Given the description of an element on the screen output the (x, y) to click on. 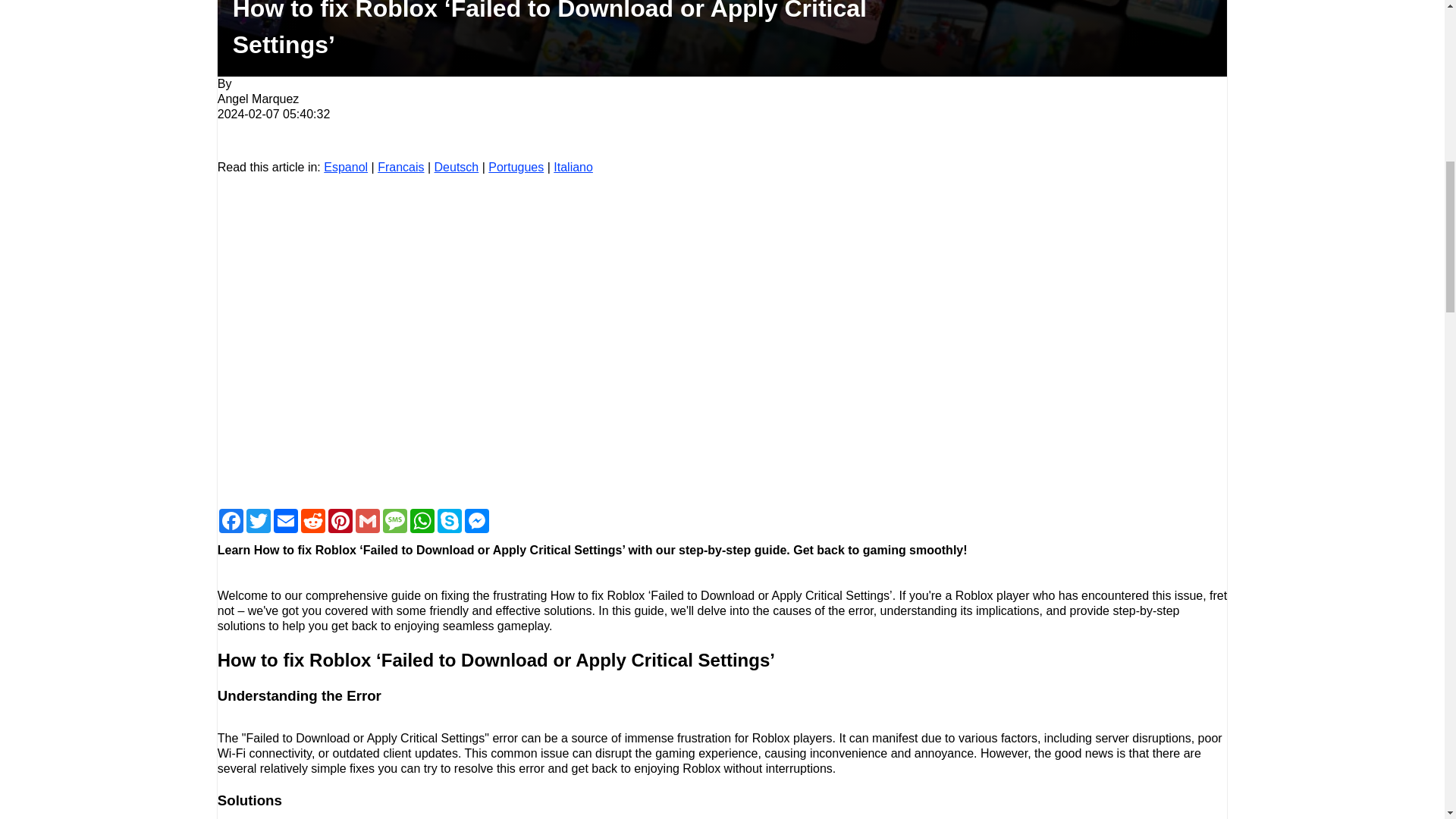
Francais (400, 166)
Deutsch (456, 166)
Skype (449, 520)
Pinterest (339, 520)
Reddit (312, 520)
SMS (395, 520)
WhatsApp (422, 520)
Portugues (515, 166)
Facebook (230, 520)
Espanol (345, 166)
Twitter (258, 520)
Deutsch (456, 166)
Francais (400, 166)
Gmail (367, 520)
Espanol (345, 166)
